Given the description of an element on the screen output the (x, y) to click on. 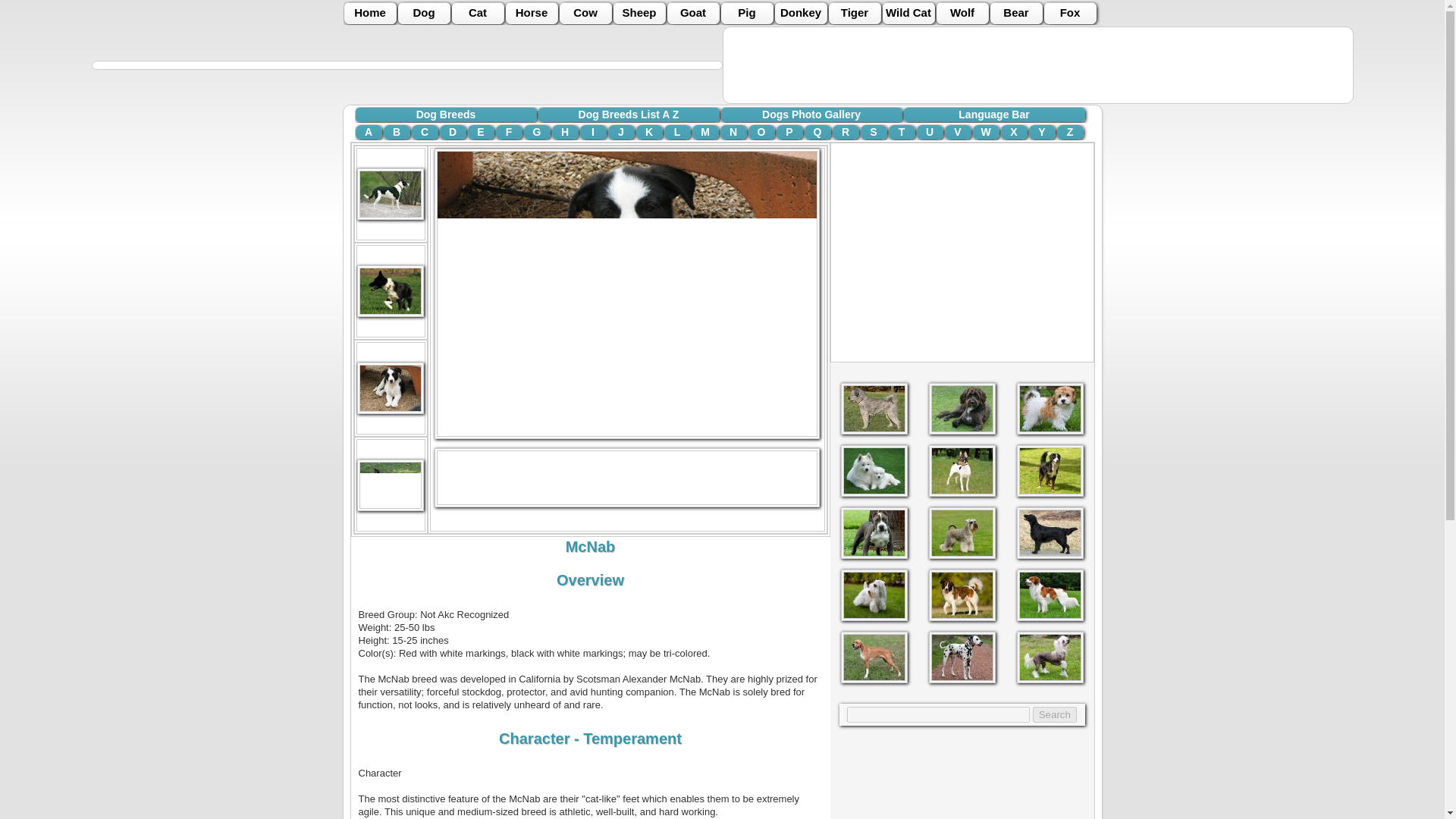
D (452, 132)
Dog Breeds List A Z (628, 114)
Pig (746, 13)
Donkey (800, 13)
Cat (477, 13)
I (592, 132)
Dog Breeds (445, 114)
A (368, 132)
J (621, 132)
Bear (1016, 13)
